Given the description of an element on the screen output the (x, y) to click on. 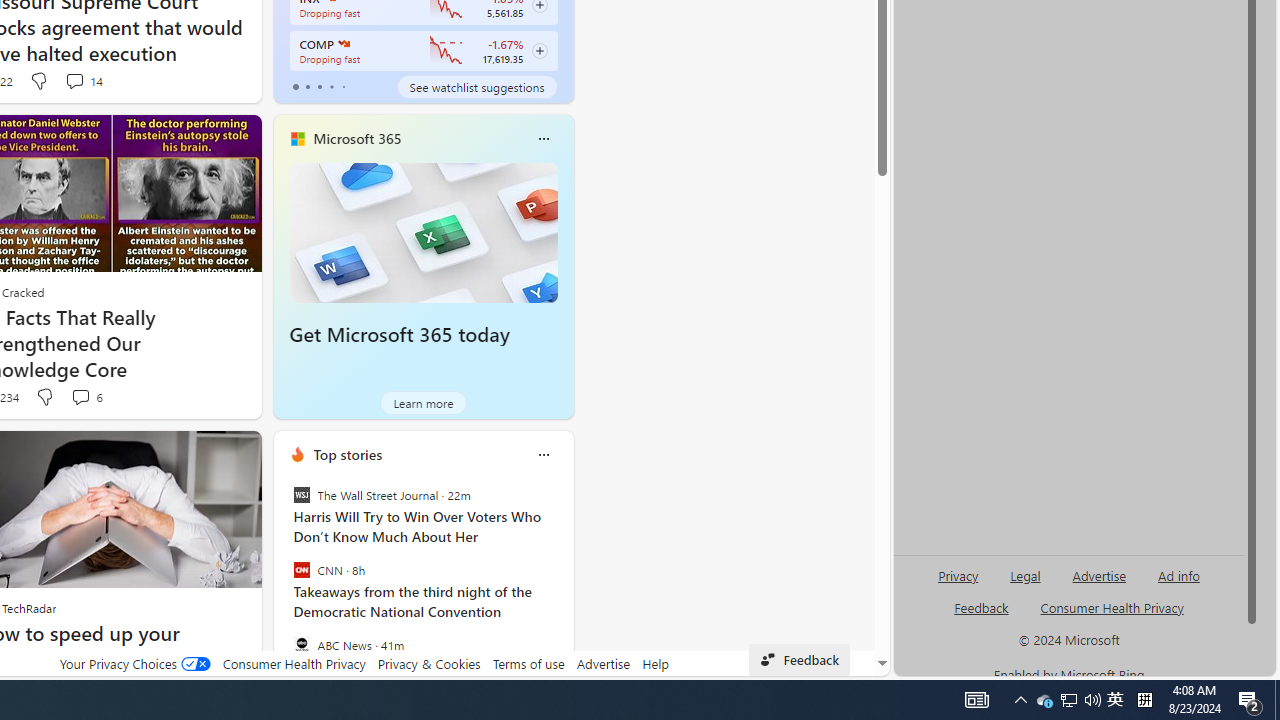
View comments 6 Comment (80, 396)
Consumer Health Privacy (293, 663)
Your Privacy Choices (134, 663)
View comments 14 Comment (74, 80)
Terms of use (527, 663)
Feedback (798, 659)
NASDAQ (342, 43)
Help (655, 663)
View comments 14 Comment (83, 80)
previous (283, 583)
View comments 6 Comment (86, 397)
